Given the description of an element on the screen output the (x, y) to click on. 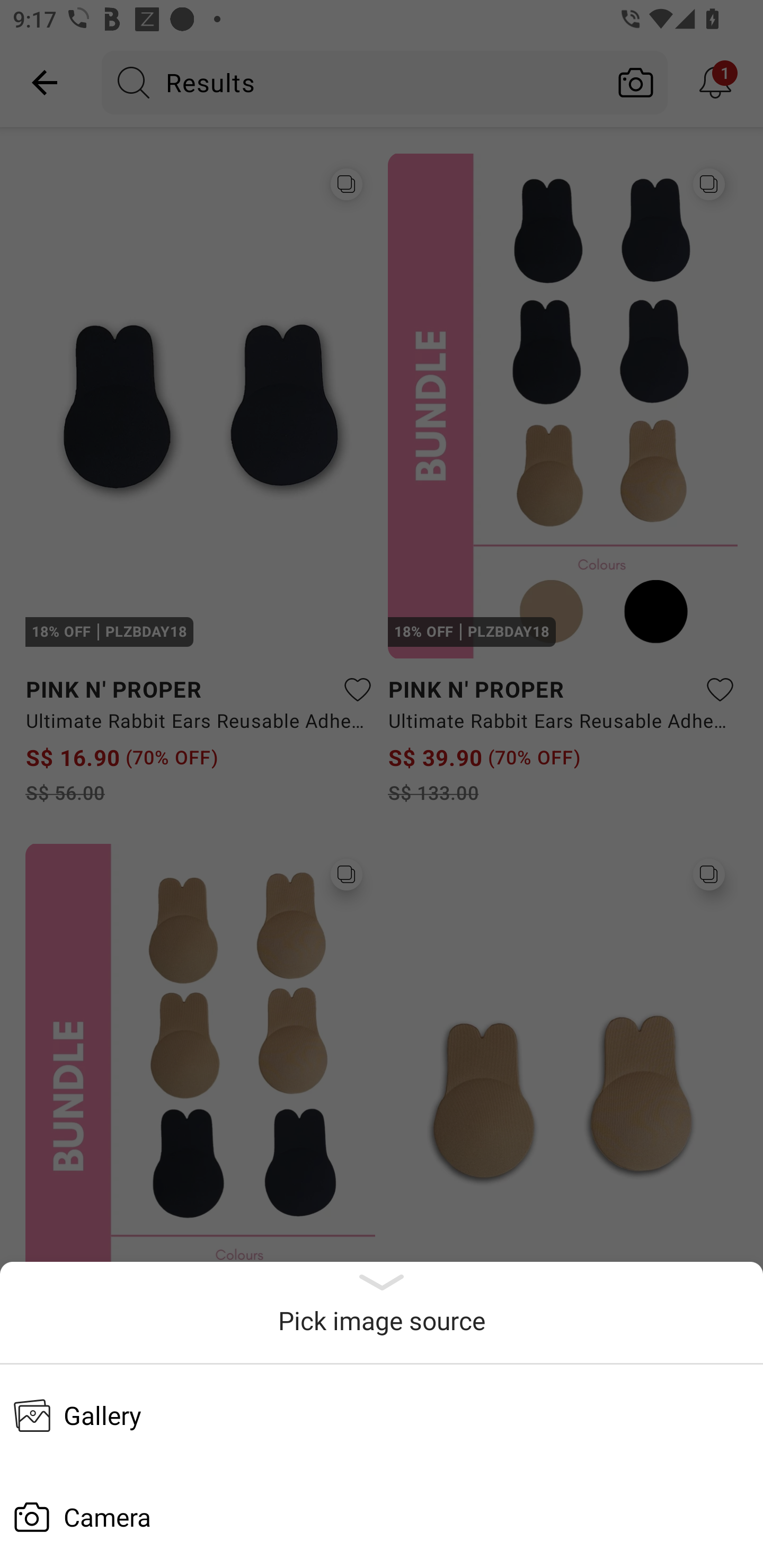
Gallery (381, 1415)
Camera (381, 1517)
